Given the description of an element on the screen output the (x, y) to click on. 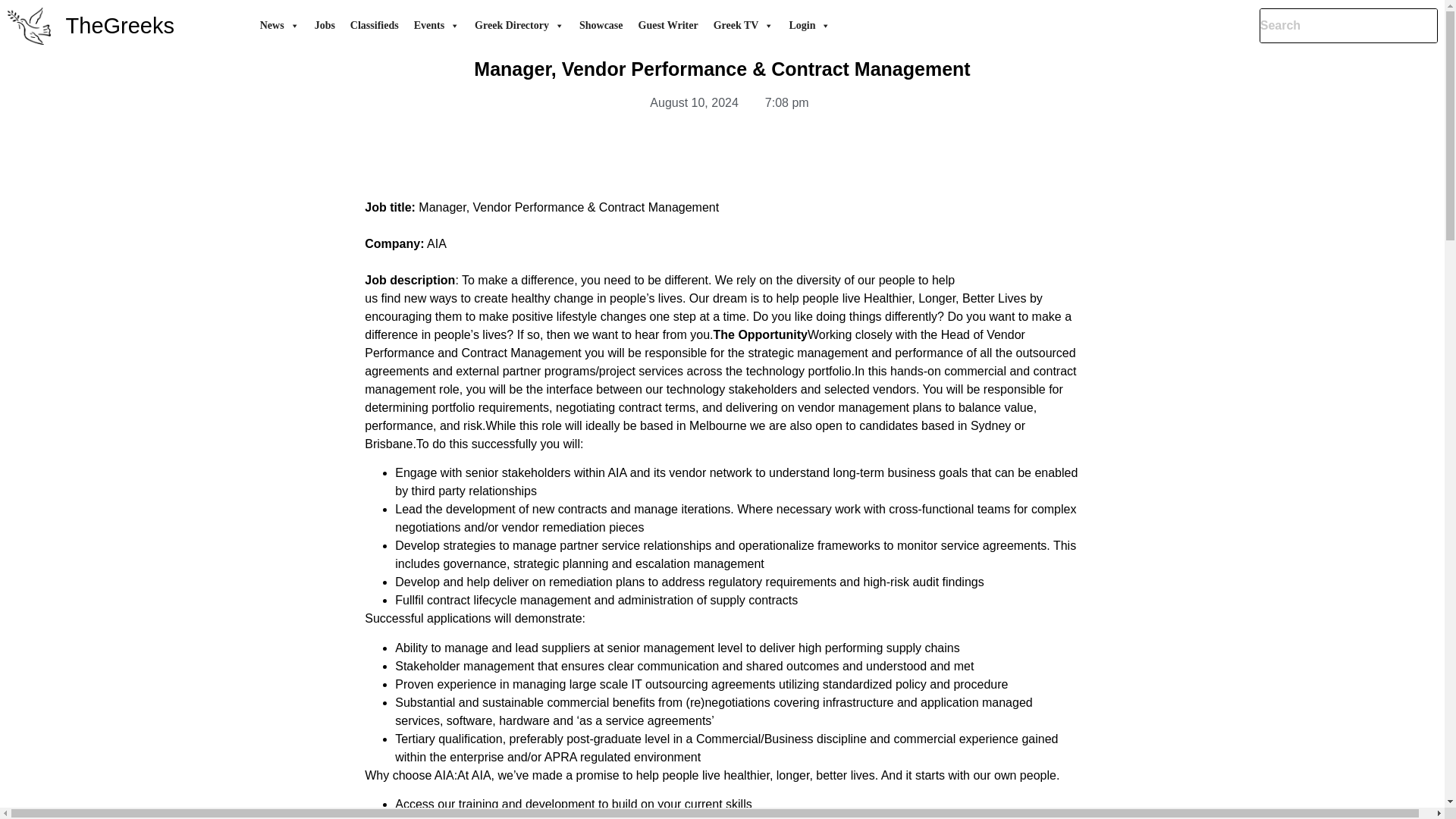
Login (809, 25)
Guest Writer (668, 25)
Greek Directory (519, 25)
Classifieds (374, 25)
News (279, 25)
TheGreeks (119, 25)
Showcase (601, 25)
Greek TV (743, 25)
Events (436, 25)
Jobs (324, 25)
